Given the description of an element on the screen output the (x, y) to click on. 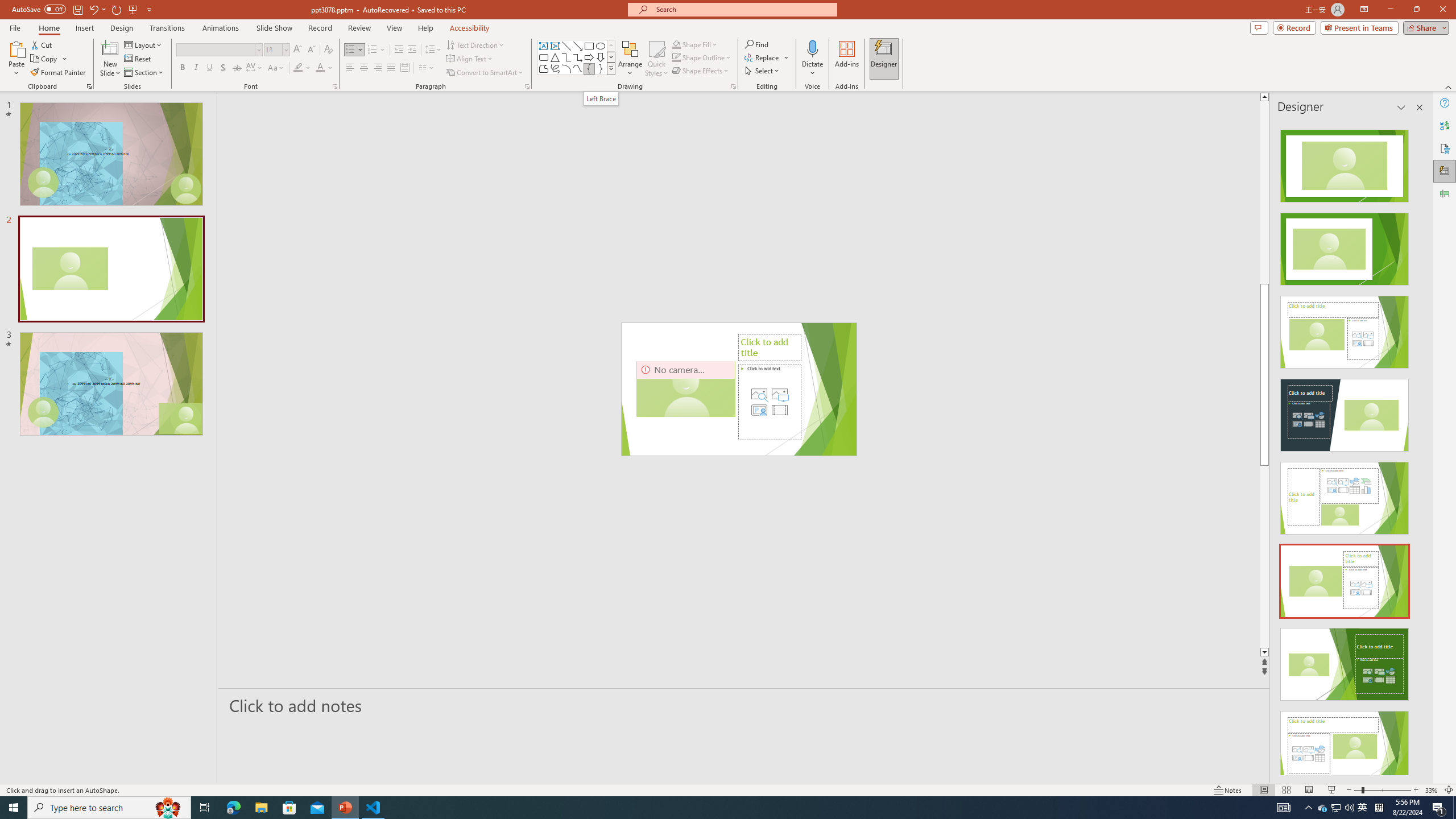
Shape Fill (694, 44)
Shape Outline Green, Accent 1 (675, 56)
Zoom 33% (1431, 790)
Italic (195, 67)
Freeform: Shape (543, 68)
Row Down (611, 56)
Decrease Font Size (310, 49)
Clear Formatting (327, 49)
Distributed (404, 67)
Numbering (372, 49)
Line up (1302, 96)
Strikethrough (237, 67)
